Given the description of an element on the screen output the (x, y) to click on. 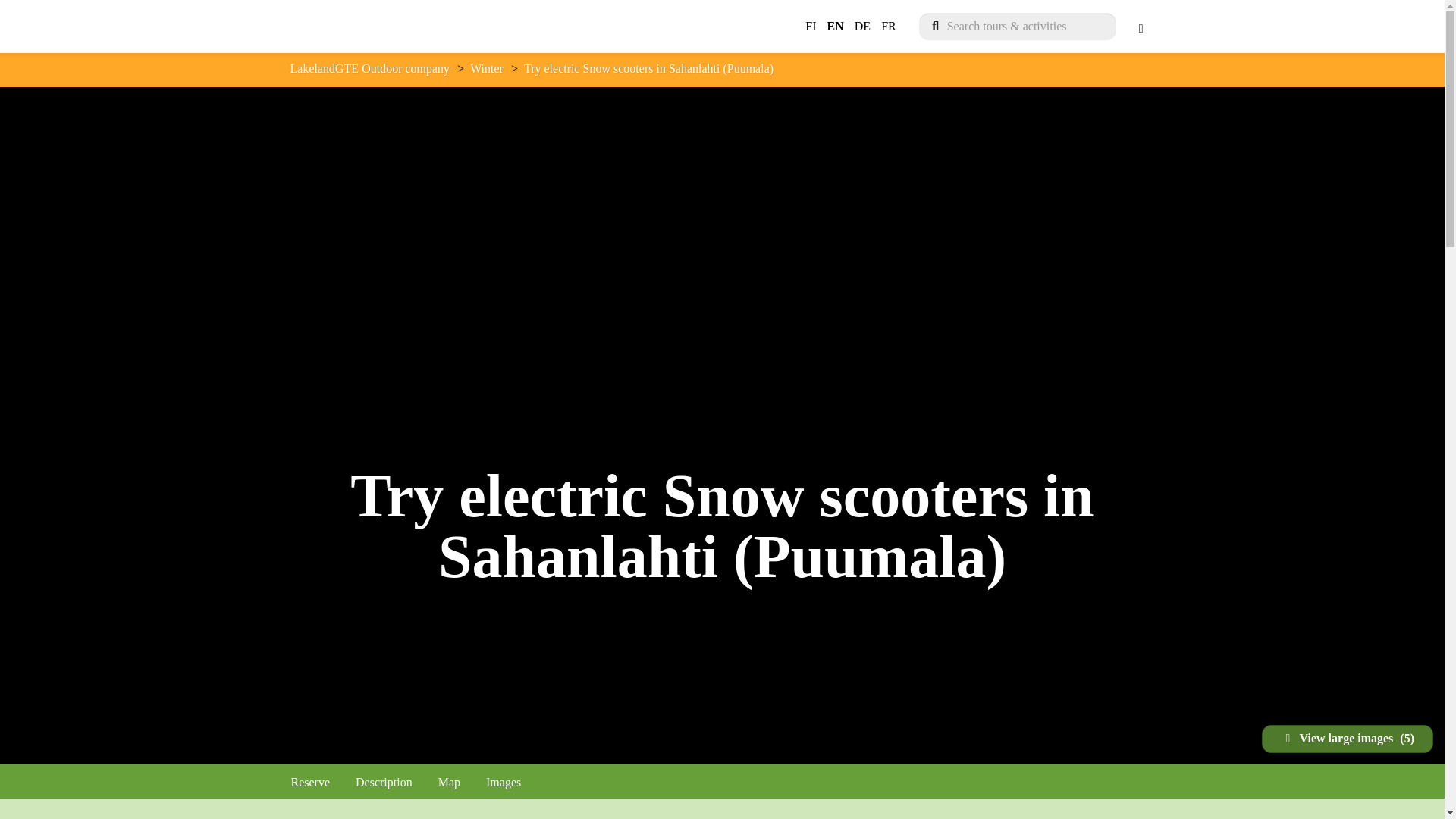
Winter (486, 68)
Reserve (310, 782)
Map (448, 782)
LakelandGTE Outdoor company (377, 26)
Description (384, 782)
Images (503, 782)
LakelandGTE Outdoor company (369, 68)
